Given the description of an element on the screen output the (x, y) to click on. 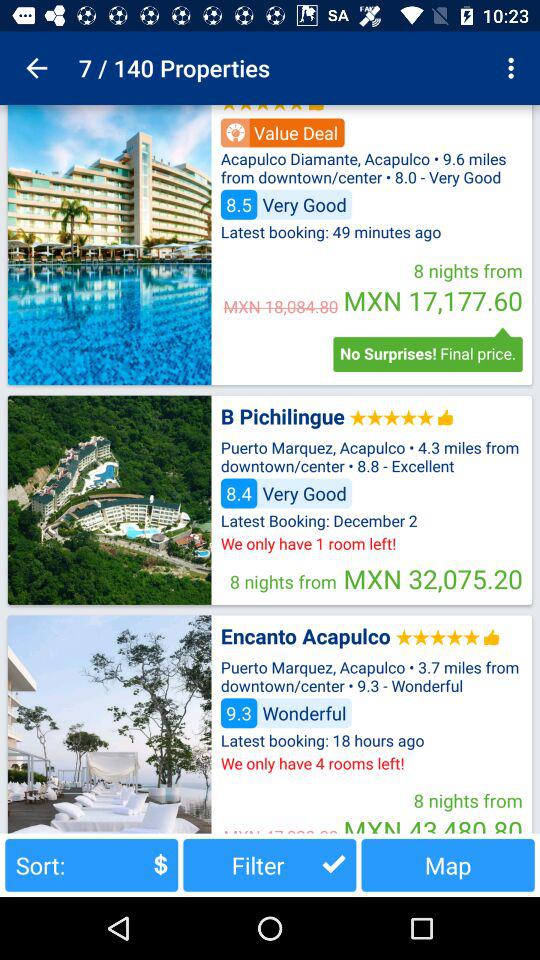
open the app next to the 7 / 140 properties app (513, 67)
